Given the description of an element on the screen output the (x, y) to click on. 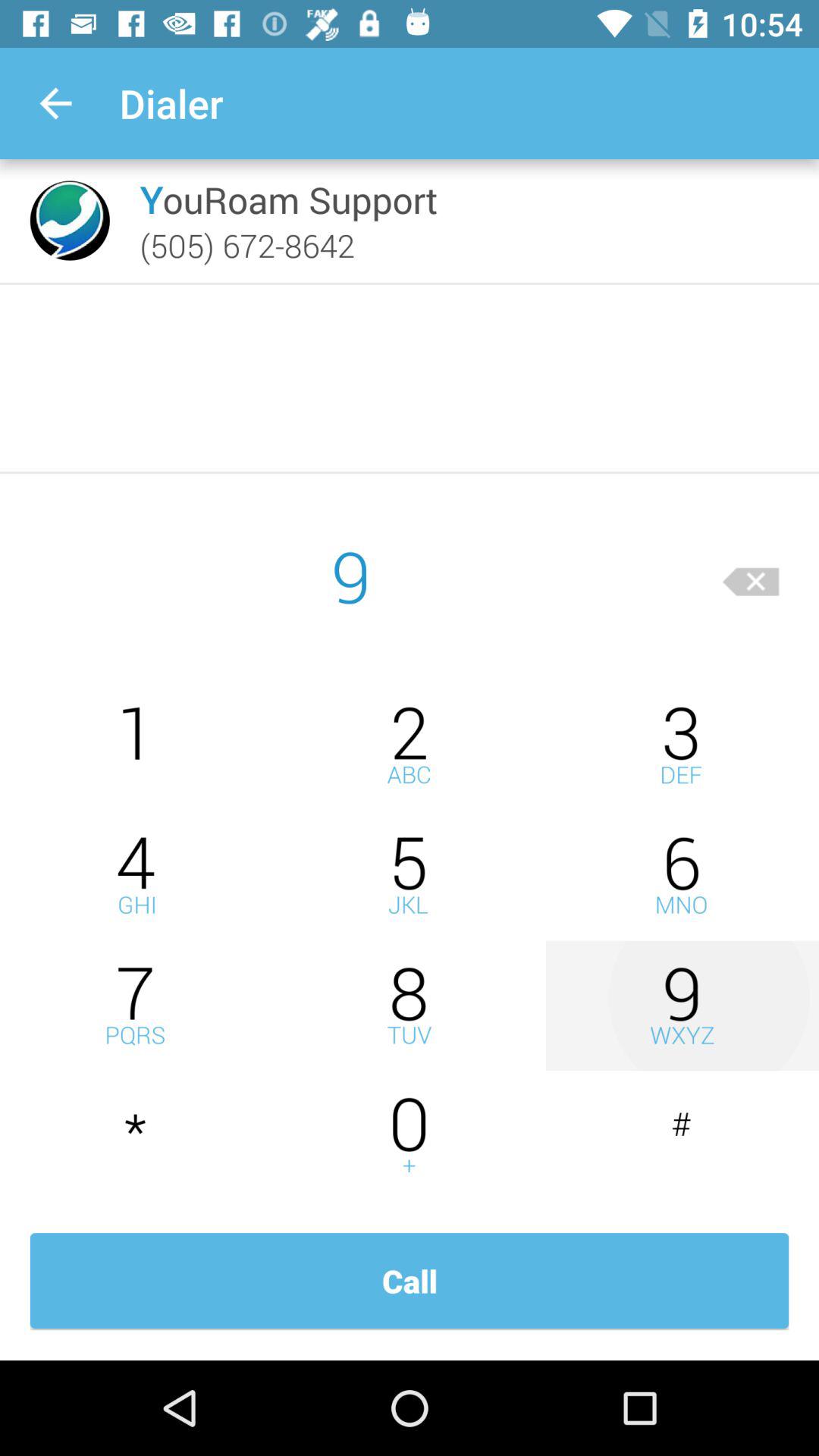
five (409, 875)
